Given the description of an element on the screen output the (x, y) to click on. 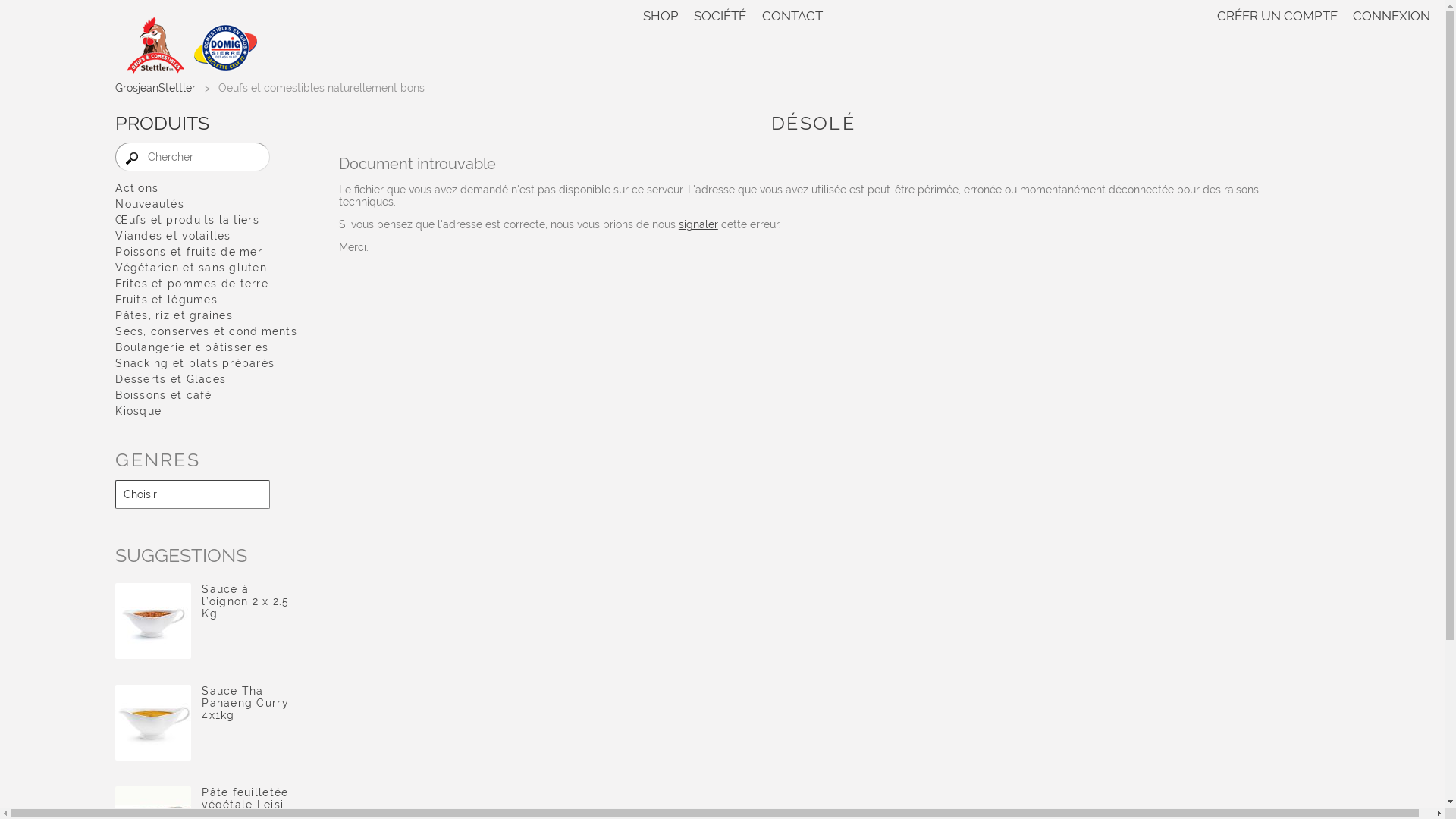
Frites et pommes de terre Element type: text (206, 283)
Actions Element type: text (206, 187)
Poissons et fruits de mer Element type: text (206, 251)
Kiosque Element type: text (206, 410)
Secs, conserves et condiments Element type: text (206, 331)
CONNEXION Element type: text (1387, 15)
Viandes et volailles Element type: text (206, 235)
GrosjeanStettler Element type: text (155, 87)
Desserts et Glaces Element type: text (206, 378)
Sauce Thai Panaeng Curry 4x1kg Element type: hover (153, 723)
Chercher Element type: hover (192, 156)
signaler Element type: text (698, 224)
Sauce Thai Panaeng Curry 4x1kg Element type: text (244, 702)
SHOP Element type: text (664, 15)
CONTACT Element type: text (792, 15)
